Given the description of an element on the screen output the (x, y) to click on. 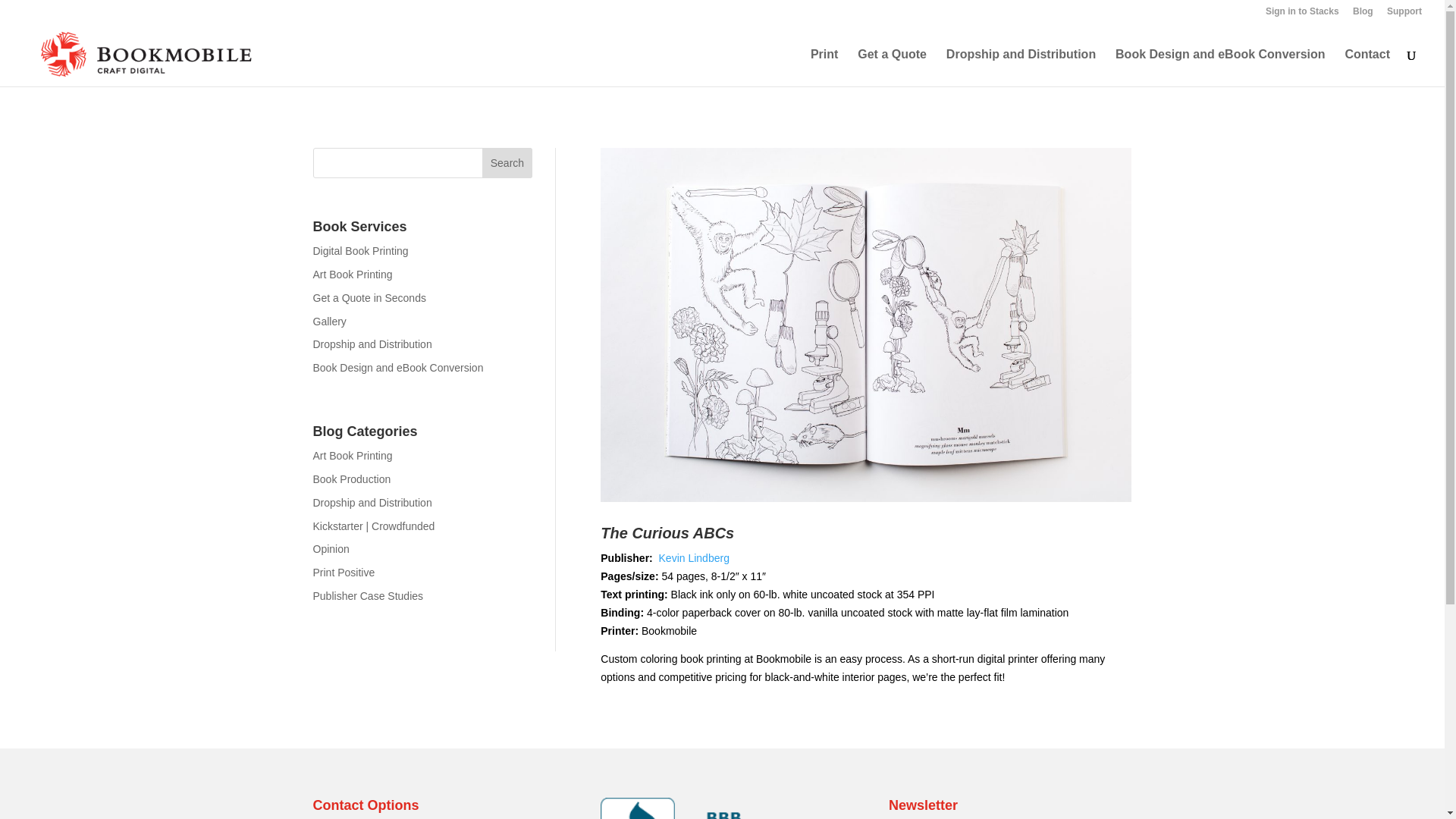
Sign in to Stacks (1302, 14)
Opinion (331, 548)
Dropship and Distribution (371, 502)
Art Book Printing (352, 274)
Book Design and eBook Conversion (398, 367)
Book Production (351, 479)
Get a Quote in Seconds (369, 297)
Art Book Printing (352, 455)
Dropship and Distribution (371, 344)
Publisher Case Studies (368, 595)
